Given the description of an element on the screen output the (x, y) to click on. 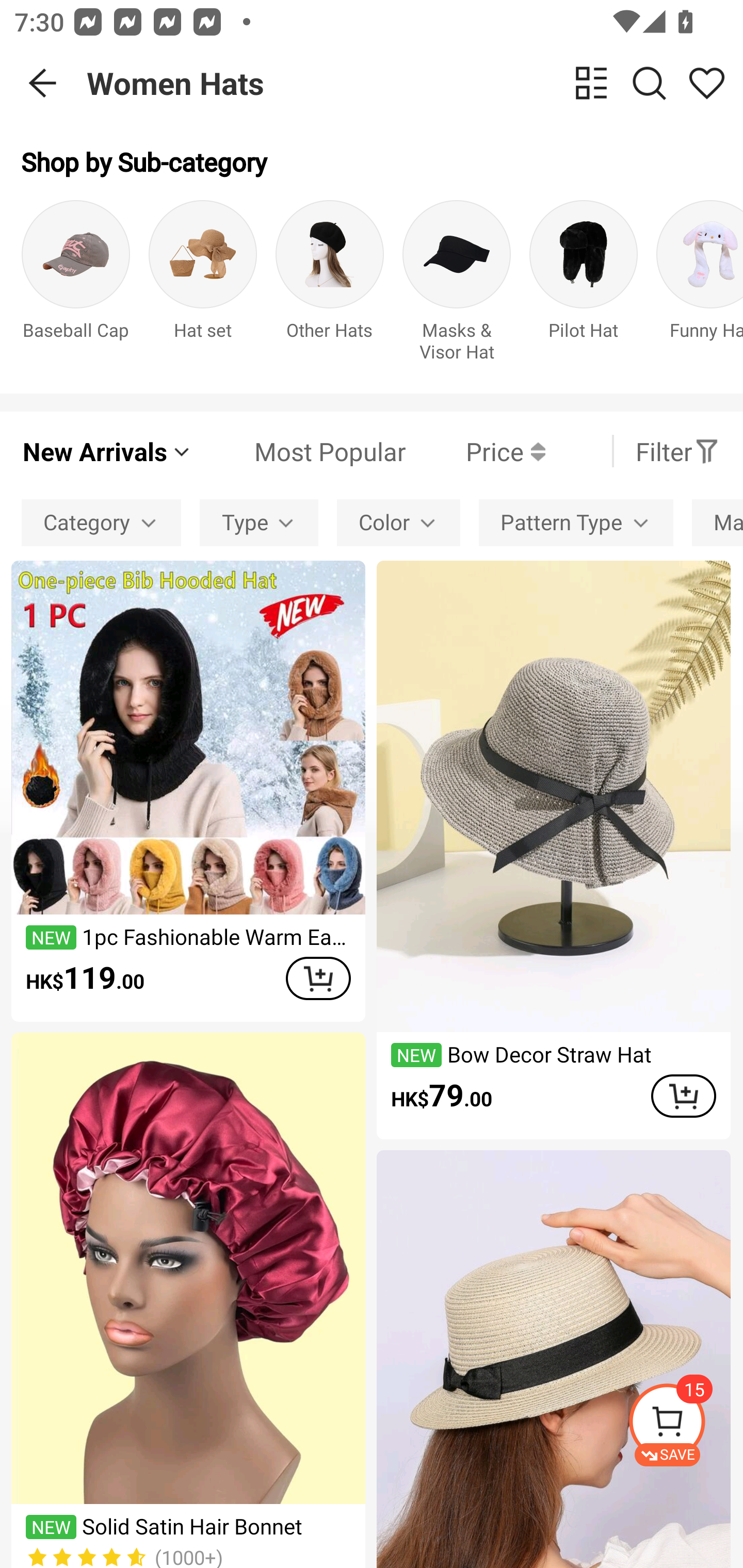
Women Hats change view Search Share (414, 82)
change view (591, 82)
Search (648, 82)
Share (706, 82)
Baseball Cap (75, 285)
Hat set (202, 285)
Other Hats (329, 285)
Masks & Visor Hat (456, 285)
Pilot Hat (583, 285)
Funny Hat (699, 285)
New Arrivals (107, 450)
Most Popular (299, 450)
Price (475, 450)
Filter (677, 450)
Category (101, 521)
Type (258, 521)
Color (397, 521)
Pattern Type (575, 521)
ADD TO CART (318, 978)
ADD TO CART (683, 1095)
Bow Decor Straw Hat (553, 1359)
SAVE (685, 1424)
